Given the description of an element on the screen output the (x, y) to click on. 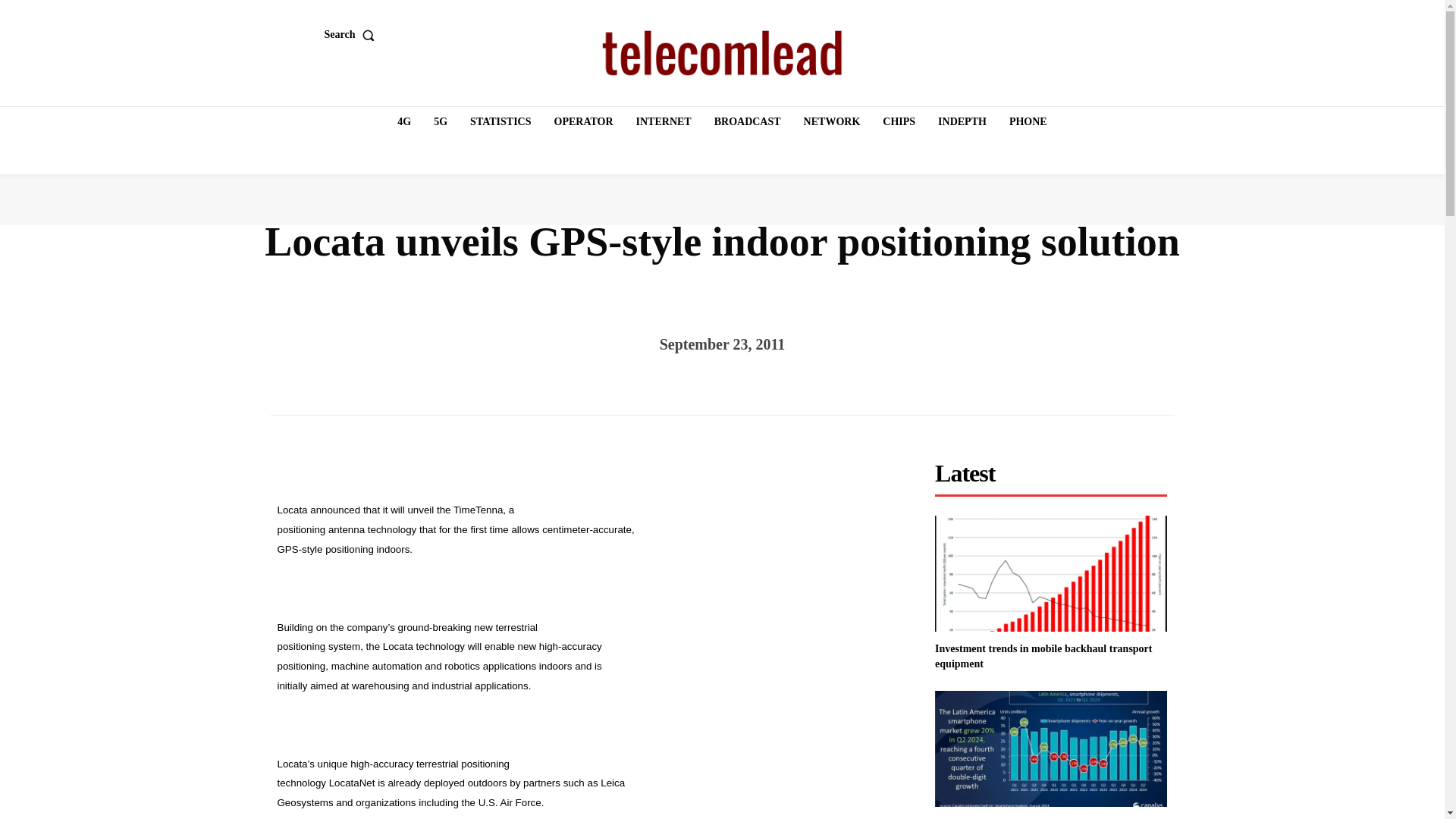
STATISTICS (500, 122)
Investment trends in mobile backhaul transport equipment (1050, 573)
INDEPTH (962, 122)
tl (722, 53)
CHIPS (899, 122)
4G (404, 122)
5G (440, 122)
Investment trends in mobile backhaul transport equipment (1042, 655)
PHONE (1027, 122)
BROADCAST (747, 122)
